Given the description of an element on the screen output the (x, y) to click on. 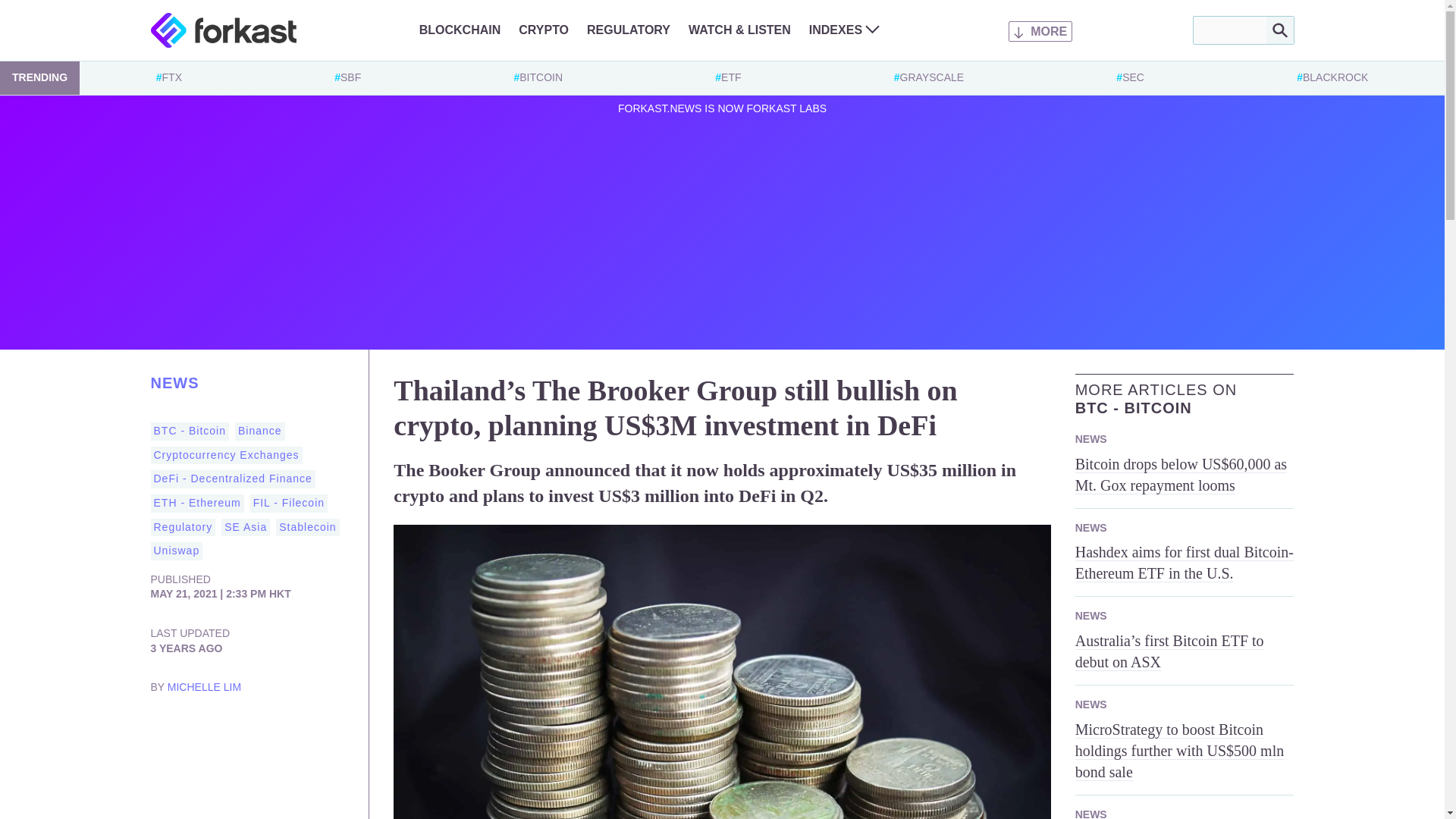
Posts by Michelle Lim (204, 686)
Share on whatsapp (282, 731)
Share on telegram (252, 731)
Share on twitter (161, 731)
CRYPTO (543, 29)
Share on linkedin (192, 731)
REGULATORY (627, 29)
BLOCKCHAIN (459, 29)
Share on line (313, 731)
INDEXES (844, 29)
Share on facebook (222, 731)
